Given the description of an element on the screen output the (x, y) to click on. 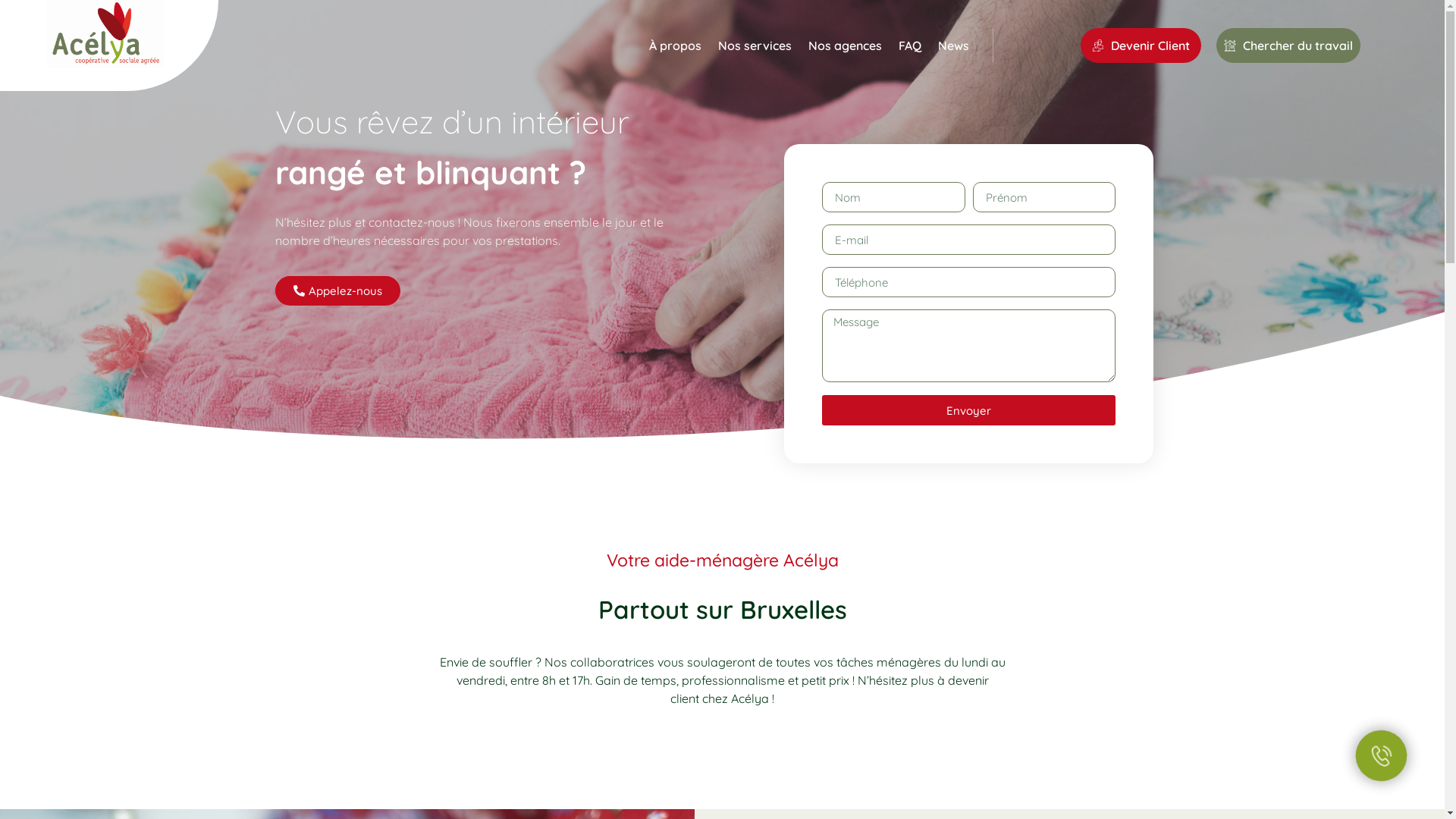
Envoyer Element type: text (968, 410)
Nos services Element type: text (754, 45)
Appelez-nous Element type: text (336, 290)
Nos agences Element type: text (845, 45)
News Element type: text (953, 45)
FAQ Element type: text (909, 45)
Devenir Client Element type: text (1140, 45)
Chercher du travail Element type: text (1288, 45)
